Given the description of an element on the screen output the (x, y) to click on. 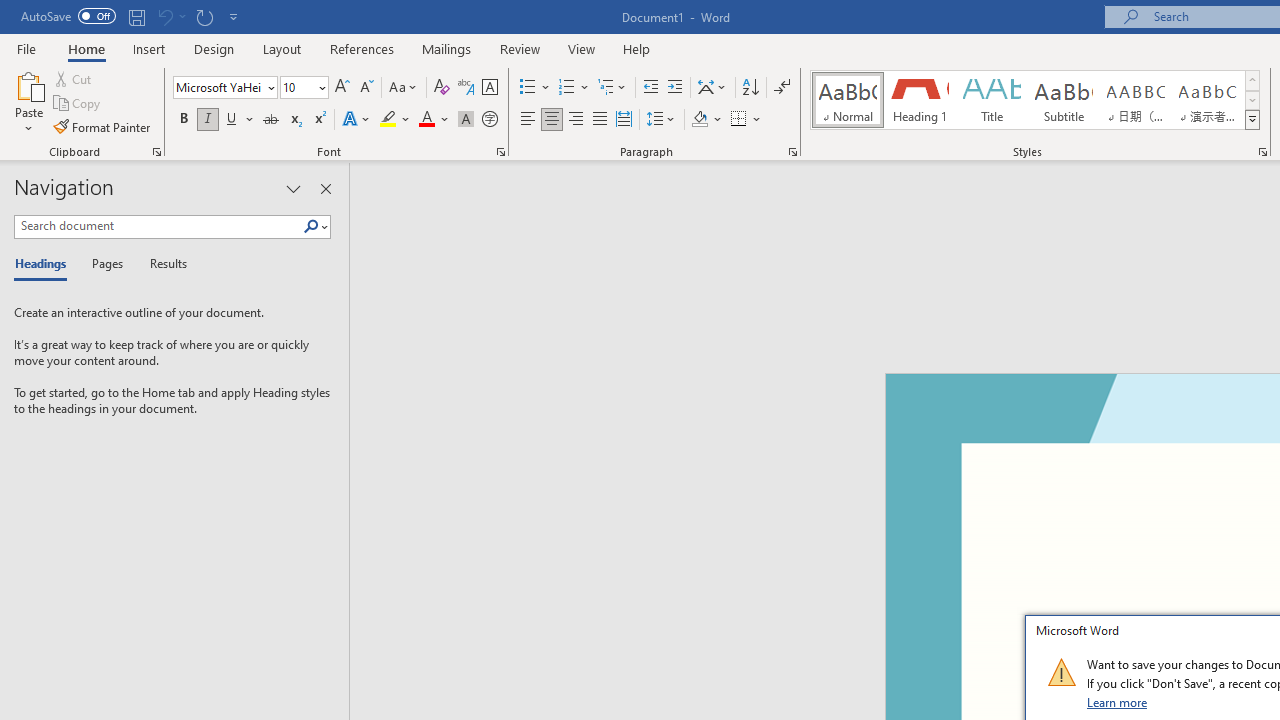
Repeat Subscript (204, 15)
Clear Formatting (442, 87)
